Given the description of an element on the screen output the (x, y) to click on. 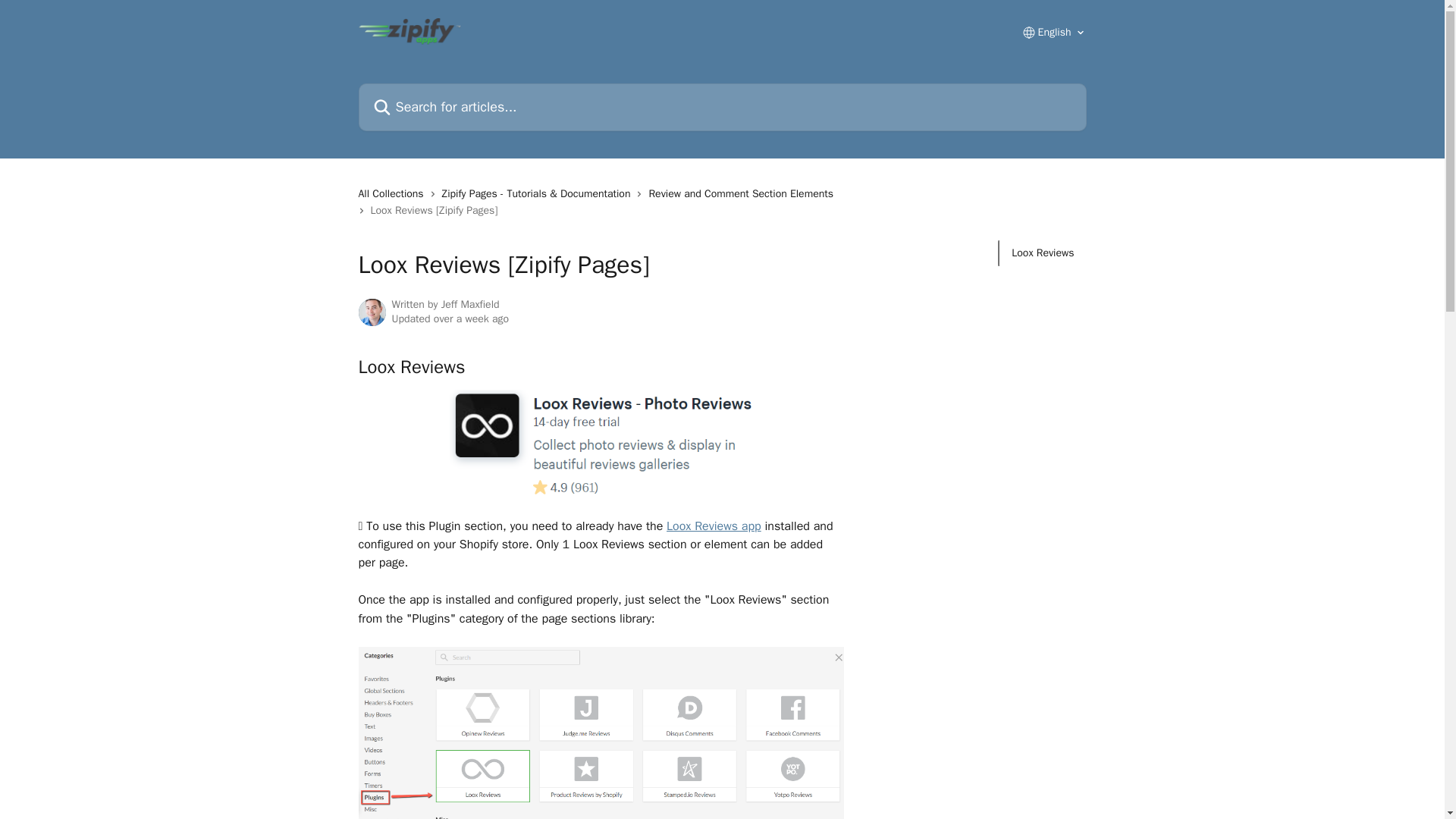
Loox Reviews (1042, 252)
Loox Reviews app (713, 525)
Review and Comment Section Elements (743, 193)
All Collections (393, 193)
